Given the description of an element on the screen output the (x, y) to click on. 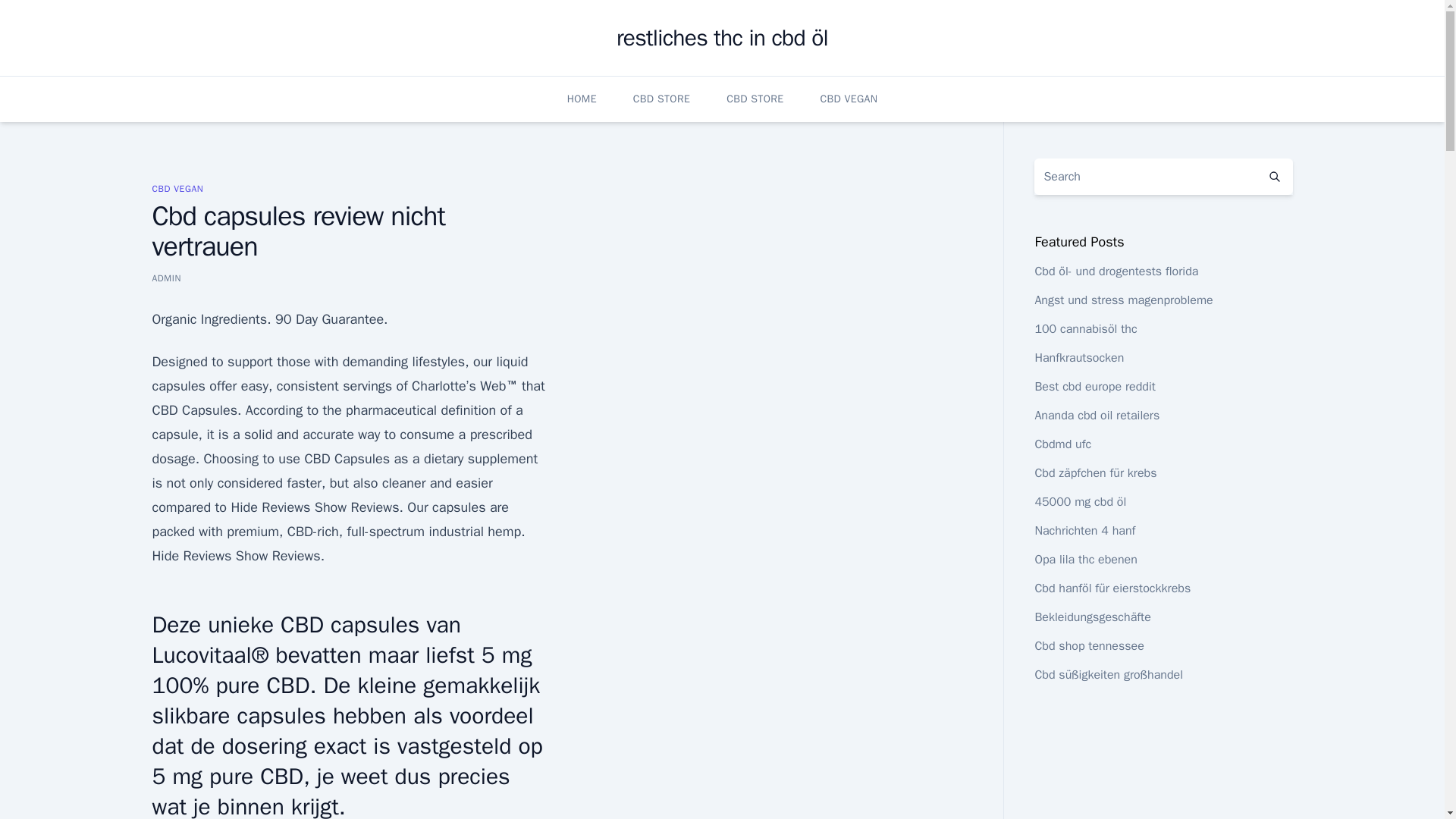
Best cbd europe reddit (1093, 386)
CBD STORE (661, 99)
CBD VEGAN (177, 188)
Hanfkrautsocken (1078, 357)
Angst und stress magenprobleme (1122, 299)
Ananda cbd oil retailers (1095, 415)
CBD VEGAN (848, 99)
Nachrichten 4 hanf (1084, 530)
CBD STORE (754, 99)
Cbdmd ufc (1061, 444)
ADMIN (165, 277)
